Given the description of an element on the screen output the (x, y) to click on. 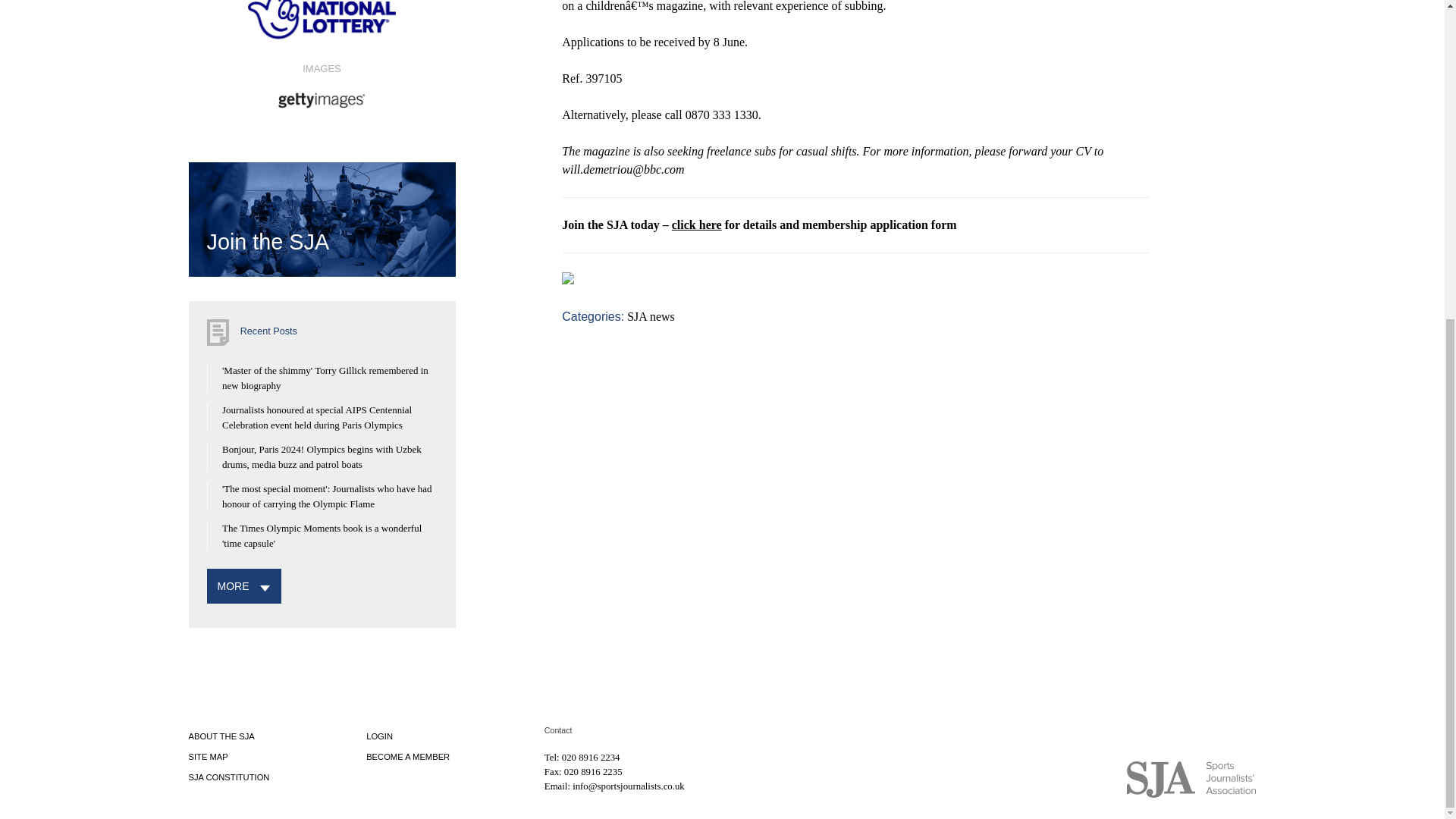
SPONSOR (320, 26)
MORE (232, 585)
IMAGES (320, 84)
View more posts from the archive (232, 585)
SJA CONSTITUTION (228, 777)
AIPS page (588, 93)
SITE MAP (207, 756)
click here (696, 224)
